Given the description of an element on the screen output the (x, y) to click on. 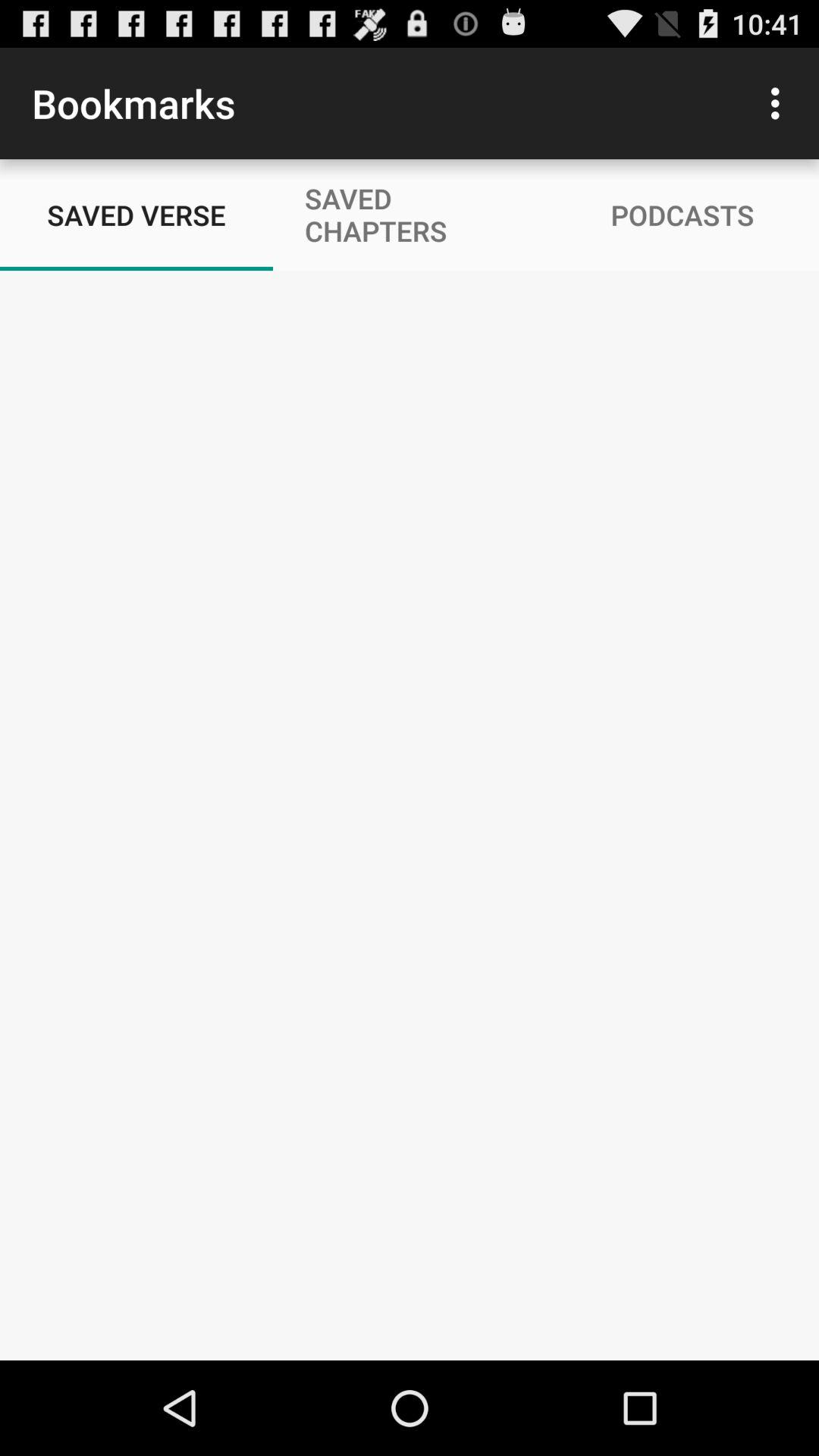
tap item to the right of saved chapters item (779, 103)
